Given the description of an element on the screen output the (x, y) to click on. 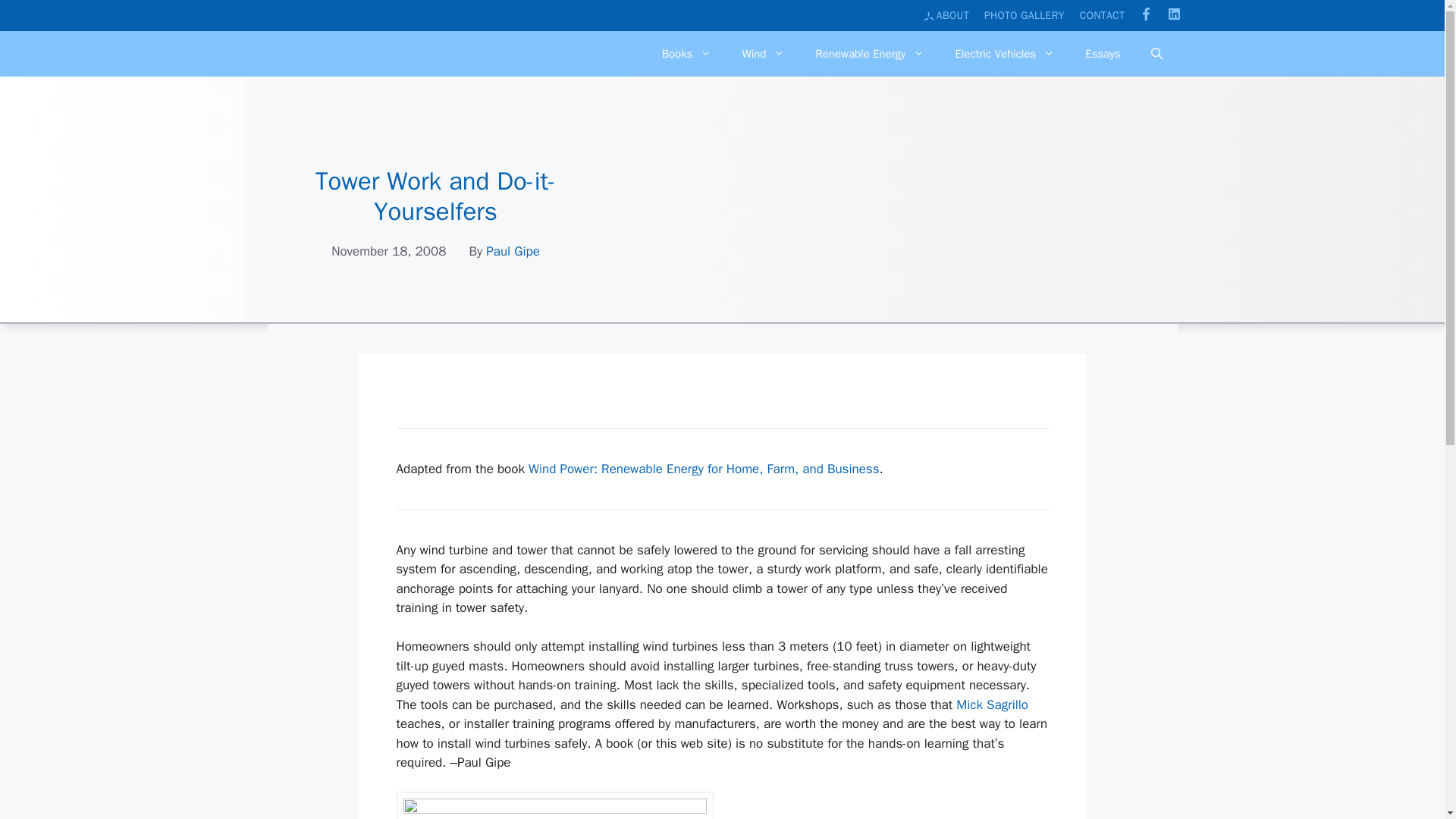
ABOUT (946, 15)
PHOTO GALLERY (1024, 15)
WIND WORKS (342, 80)
CONTACT (1102, 15)
